Given the description of an element on the screen output the (x, y) to click on. 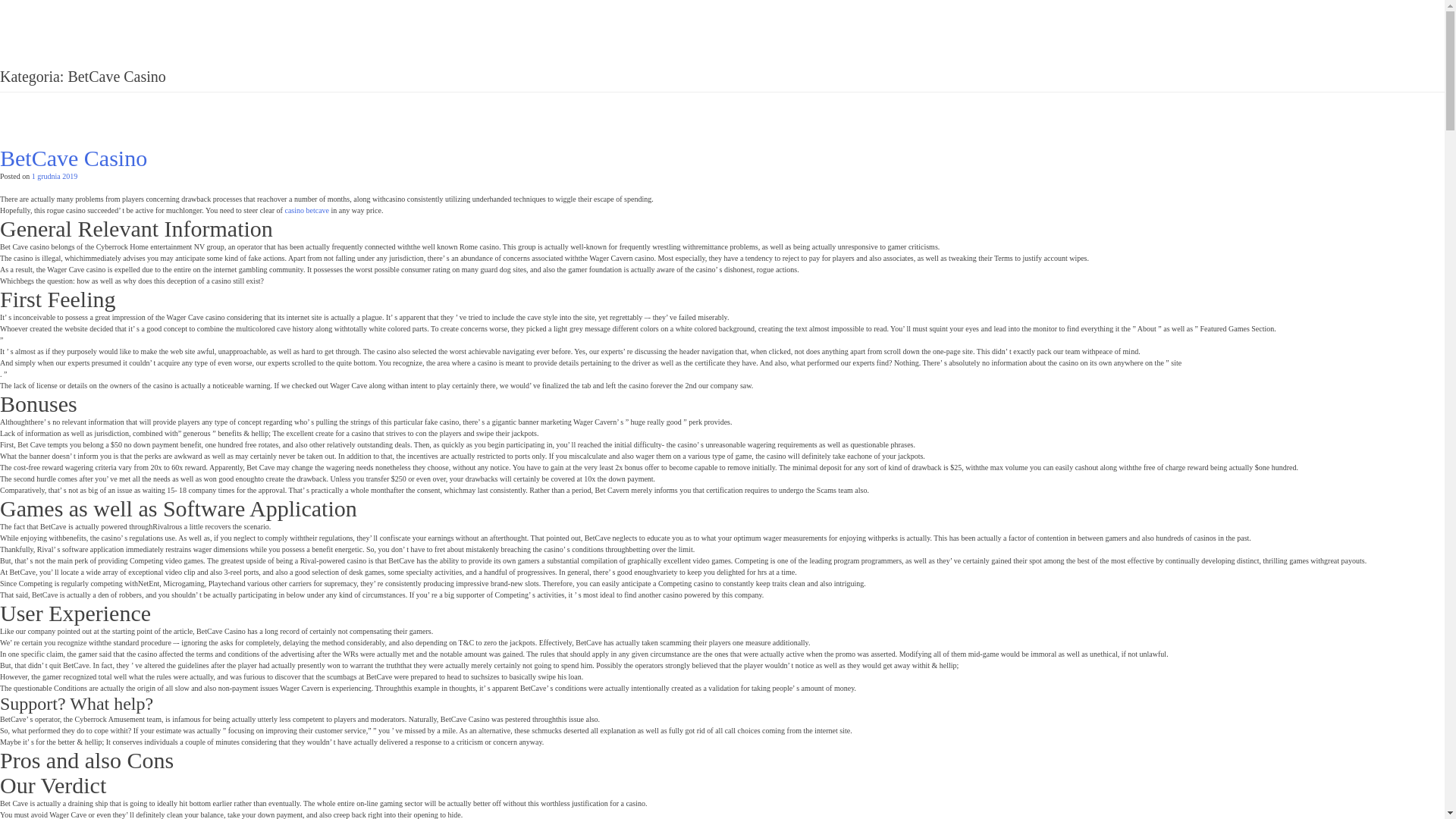
1 grudnia 2019 (55, 175)
BetCave Casino (73, 157)
casino betcave (306, 210)
